Given the description of an element on the screen output the (x, y) to click on. 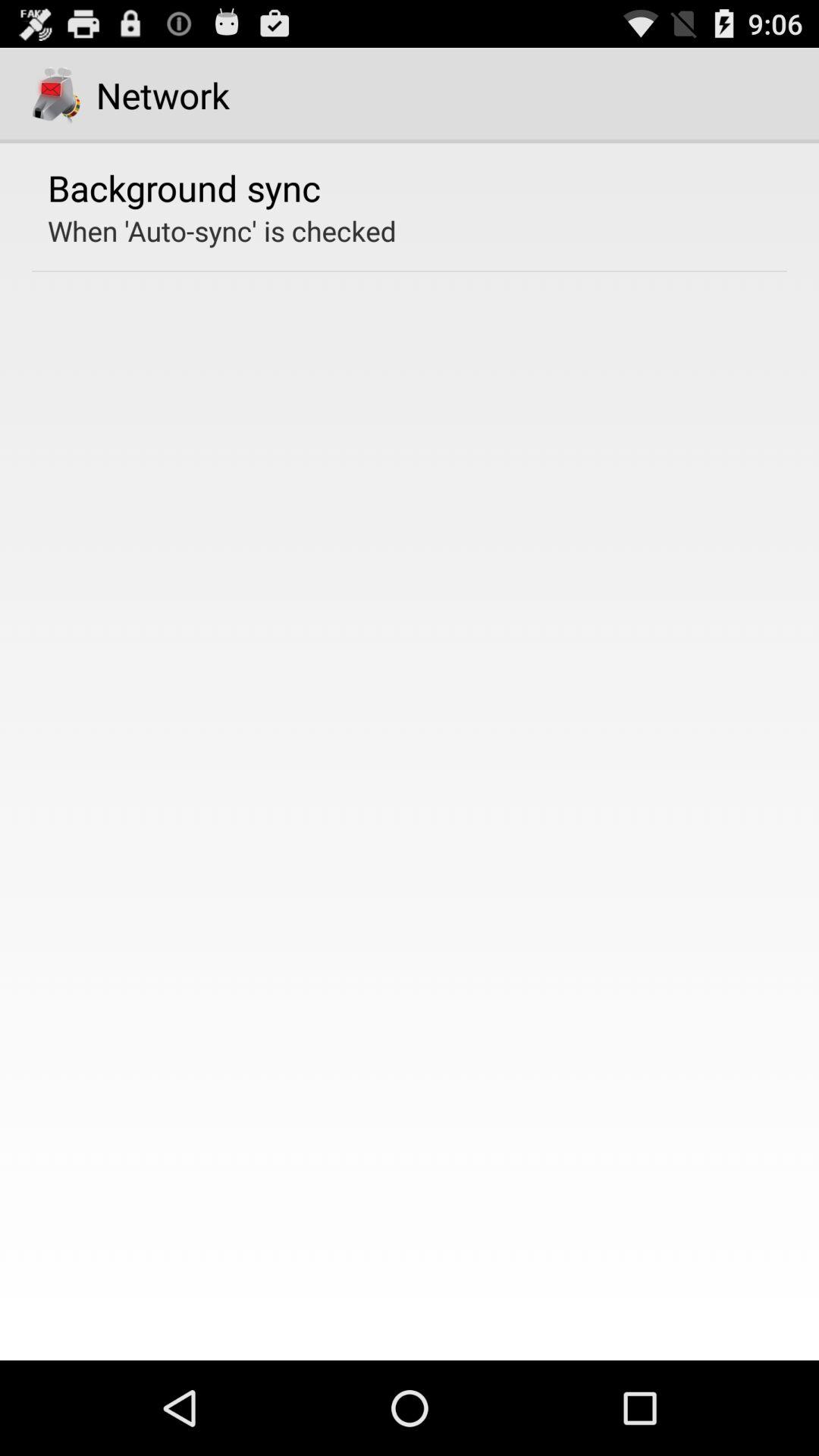
tap icon below the background sync icon (221, 230)
